Given the description of an element on the screen output the (x, y) to click on. 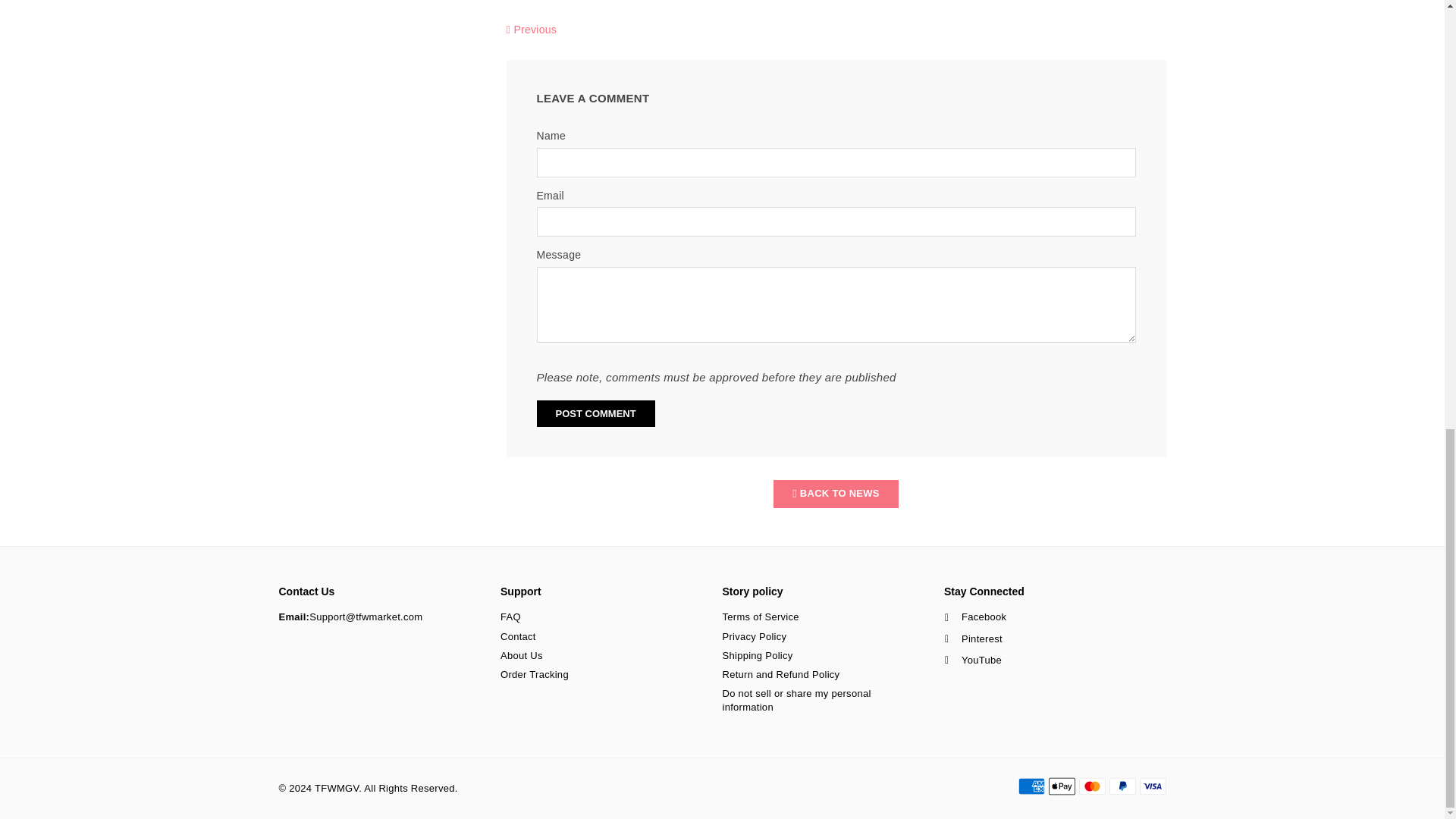
Mastercard (1091, 786)
American Express (1030, 786)
PayPal (1121, 786)
Apple Pay (1061, 786)
TFWMGV on Facebook (975, 617)
Visa (1152, 786)
Post comment (596, 413)
Post comment (596, 413)
Previous (531, 29)
BACK TO NEWS (835, 493)
